Given the description of an element on the screen output the (x, y) to click on. 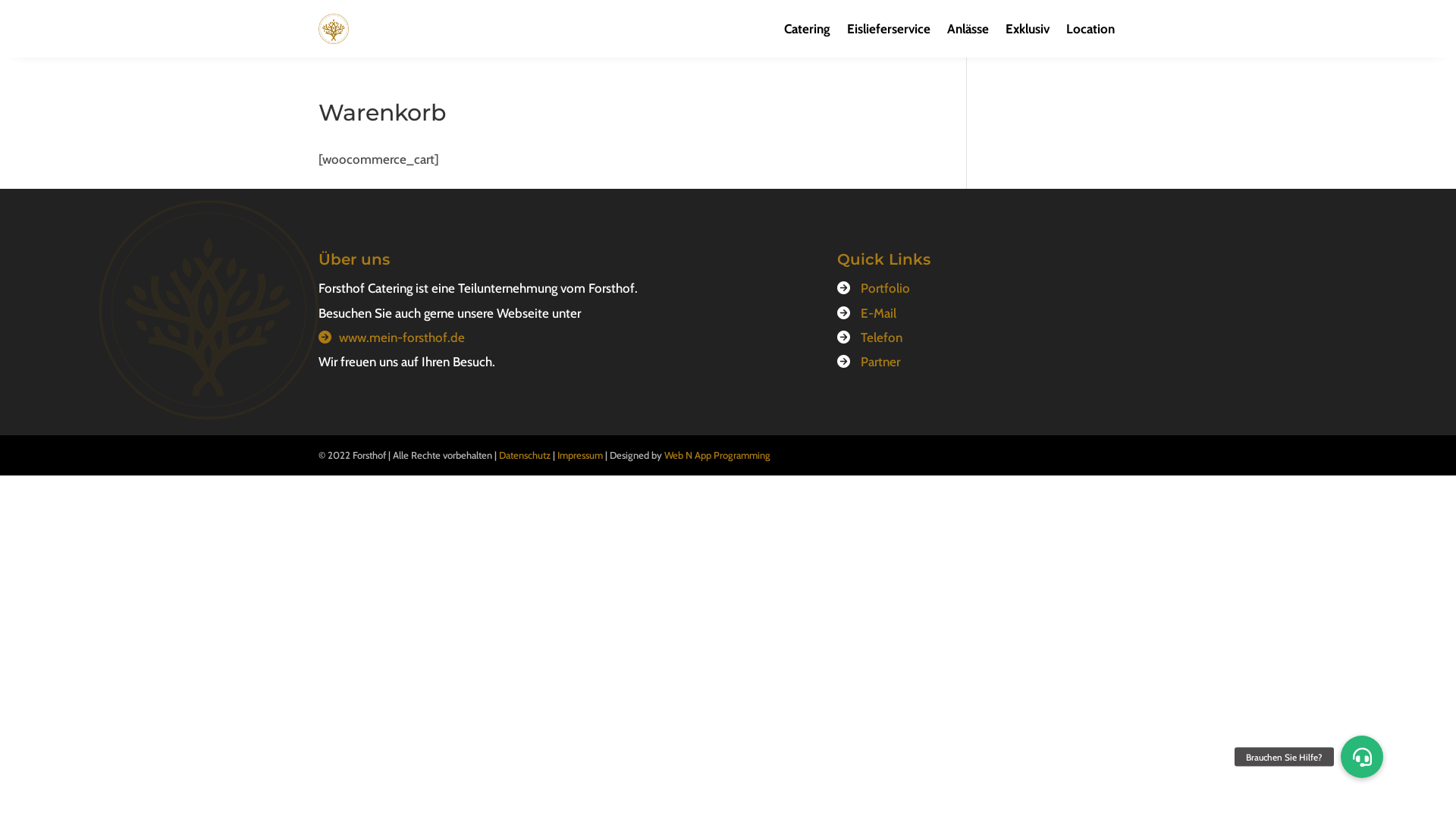
www.mein-forsthof.de Element type: text (401, 337)
Partner Element type: text (880, 361)
Location Element type: text (1090, 28)
Impressum Element type: text (579, 454)
Exklusiv Element type: text (1027, 28)
forsthof-logo Element type: hover (208, 309)
Web N App Programming Element type: text (717, 454)
Brauchen Sie Hilfe? Element type: text (1361, 756)
Datenschutz Element type: text (524, 454)
E-Mail Element type: text (878, 312)
Telefon Element type: text (881, 337)
Portfolio Element type: text (885, 287)
Catering Element type: text (807, 28)
Eislieferservice Element type: text (888, 28)
